Given the description of an element on the screen output the (x, y) to click on. 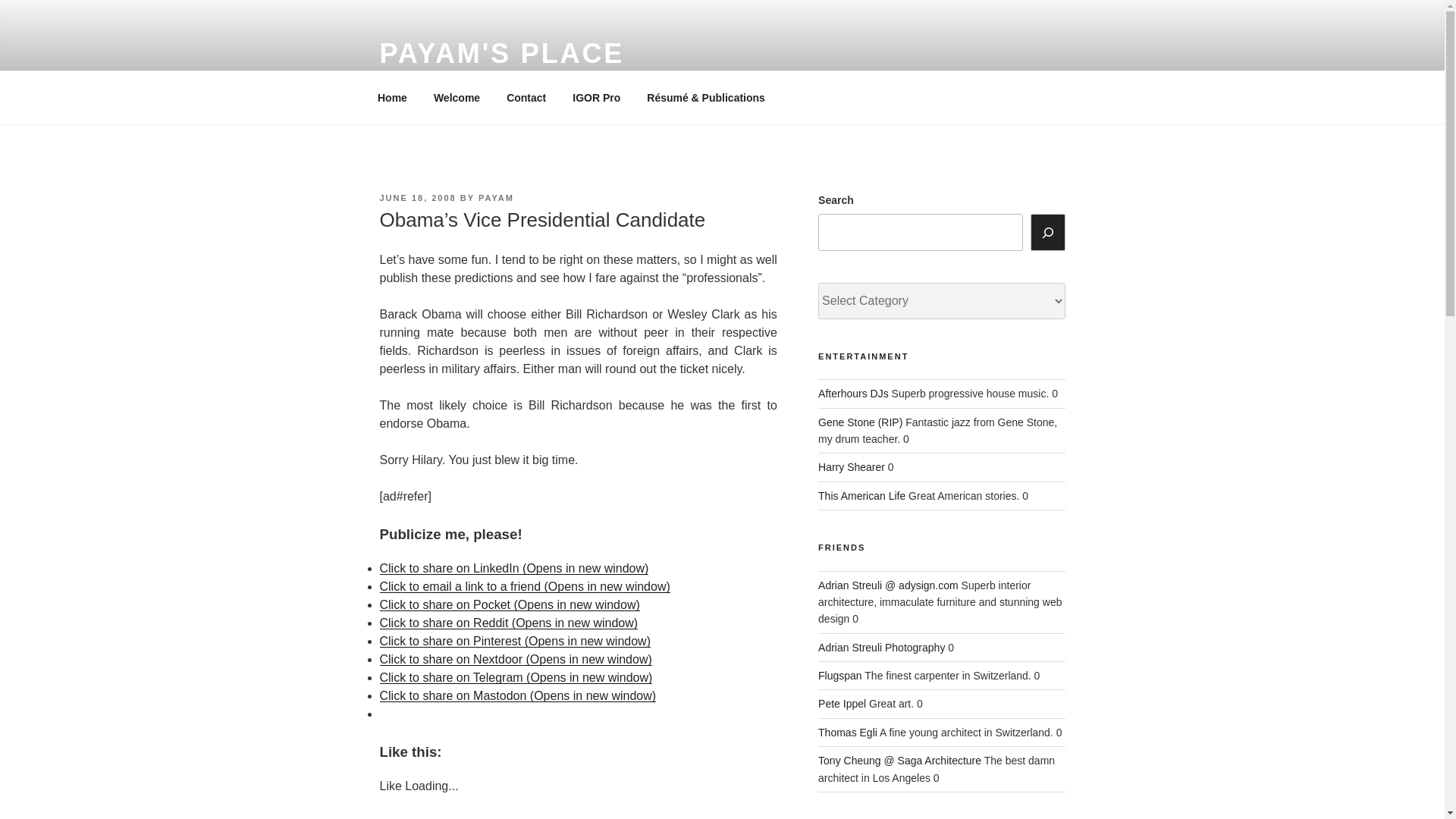
This American Life (861, 495)
Afterhours DJs (853, 393)
Click to share on Nextdoor (514, 658)
PAYAM'S PLACE (501, 52)
Click to email a link to a friend (523, 585)
Click to share on Telegram (515, 676)
Welcome (456, 97)
Click to share on LinkedIn (512, 567)
Click to share on Pinterest (514, 640)
Click to share on Pocket (508, 604)
Flugspan (839, 675)
Pete Ippel (842, 703)
Harry Shearer (851, 467)
Contact (526, 97)
